Given the description of an element on the screen output the (x, y) to click on. 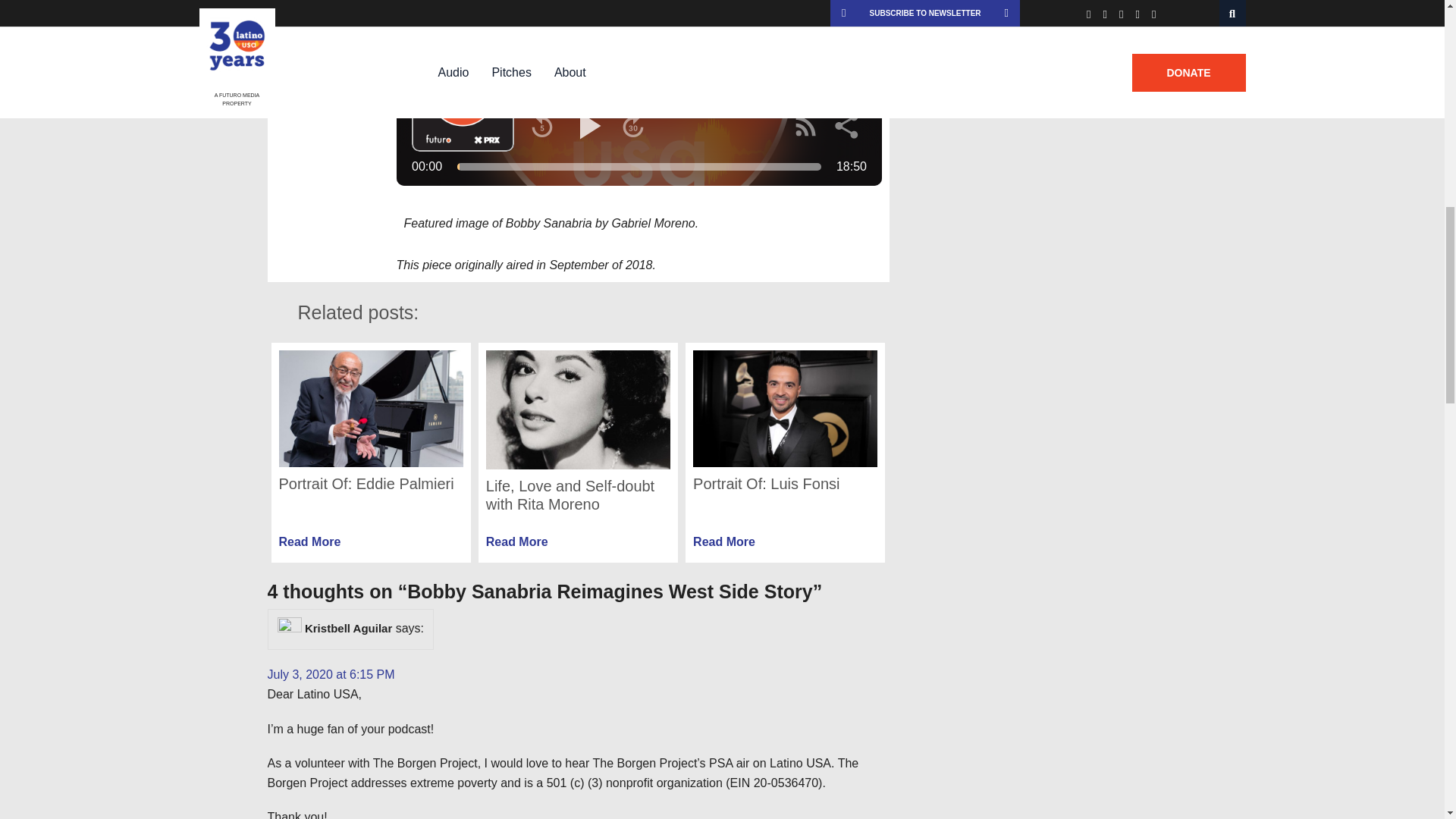
July 3, 2020 at 6:15 PM (785, 452)
